Given the description of an element on the screen output the (x, y) to click on. 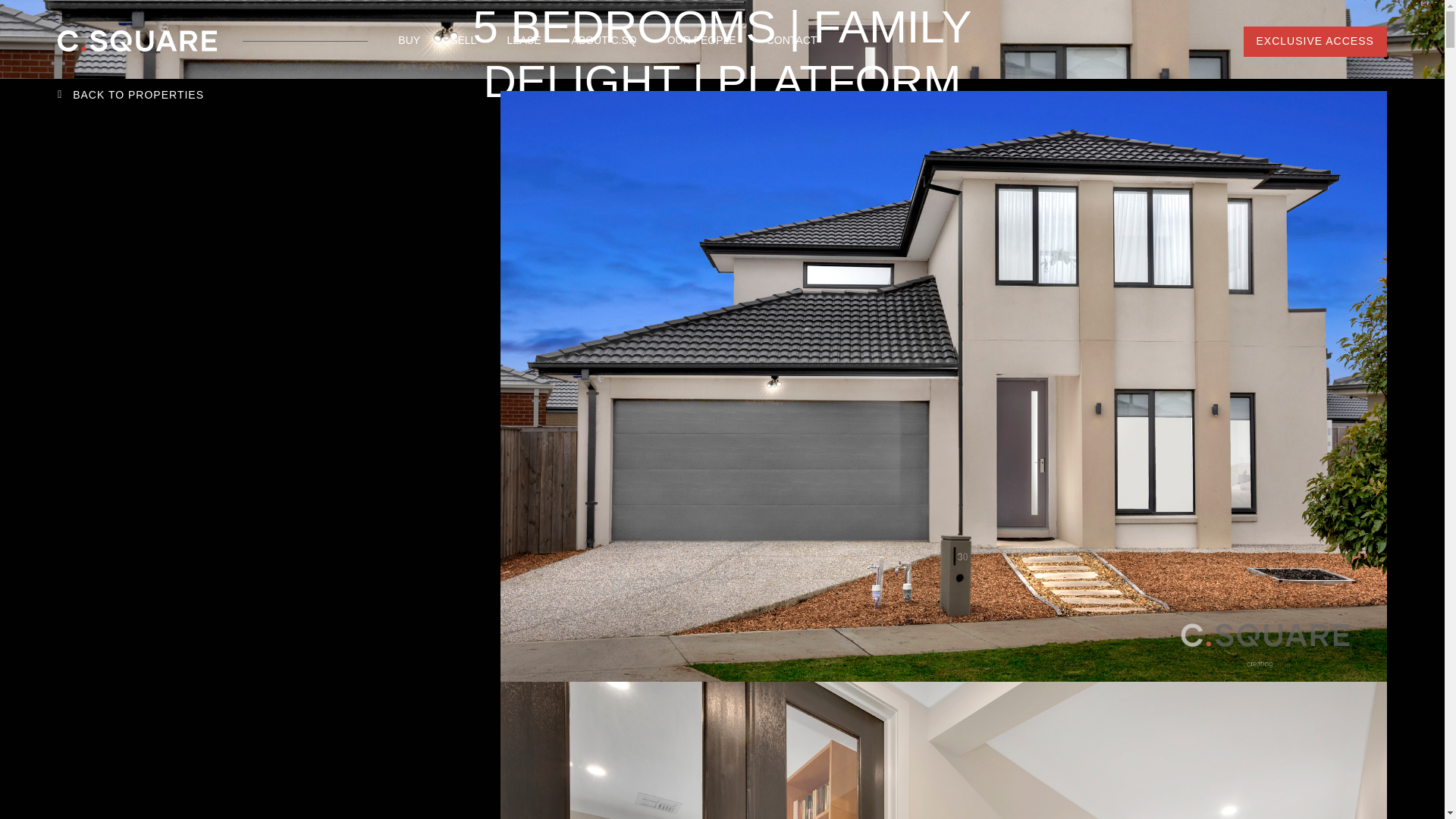
BACK TO PROPERTIES (137, 95)
BUY (408, 40)
SELL (462, 40)
CONTACT (791, 40)
OUR PEOPLE (701, 40)
LEASE (523, 40)
EXCLUSIVE ACCESS (1315, 41)
ABOUT C.SQ (604, 40)
